Given the description of an element on the screen output the (x, y) to click on. 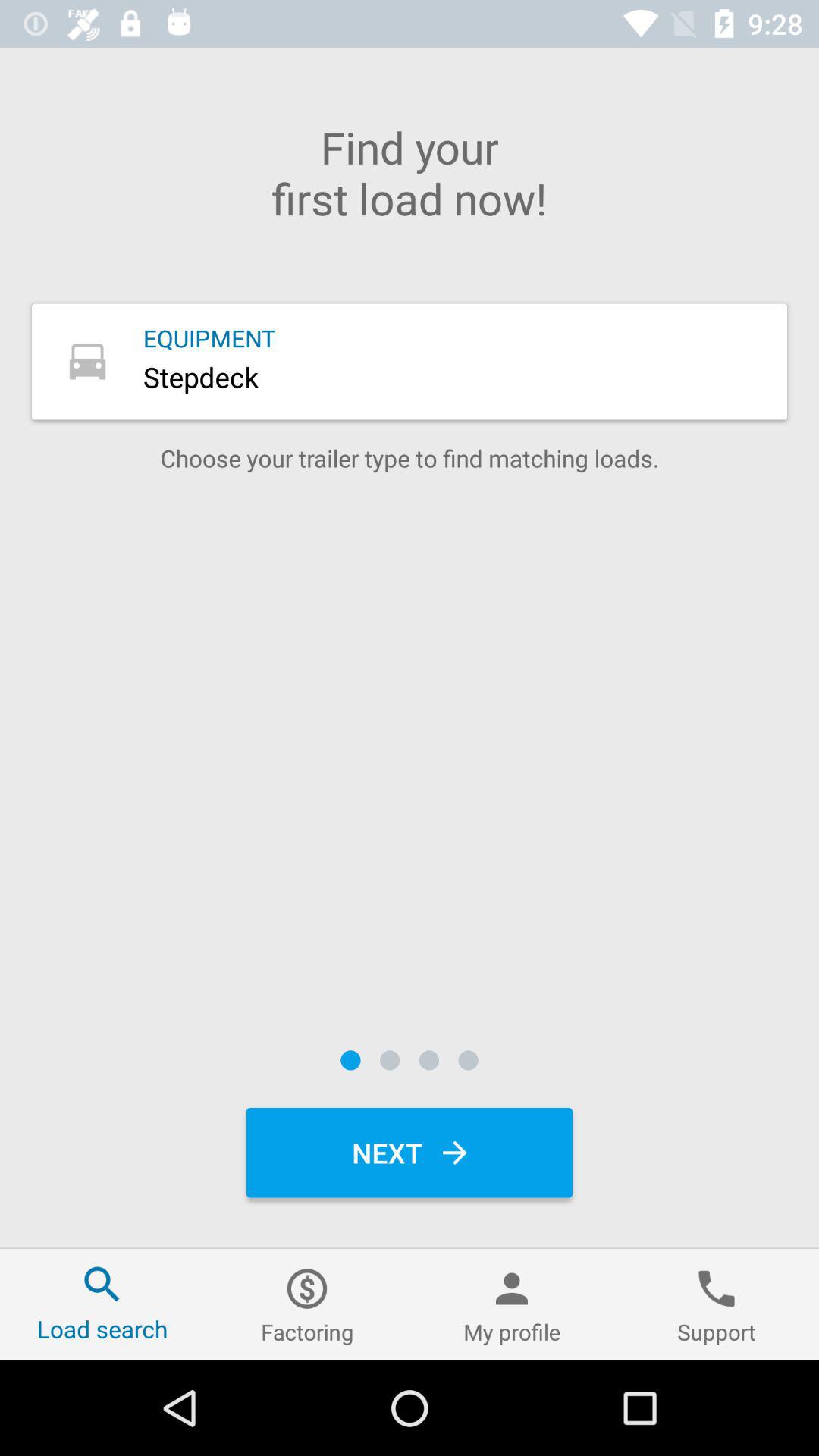
press factoring icon (306, 1304)
